Given the description of an element on the screen output the (x, y) to click on. 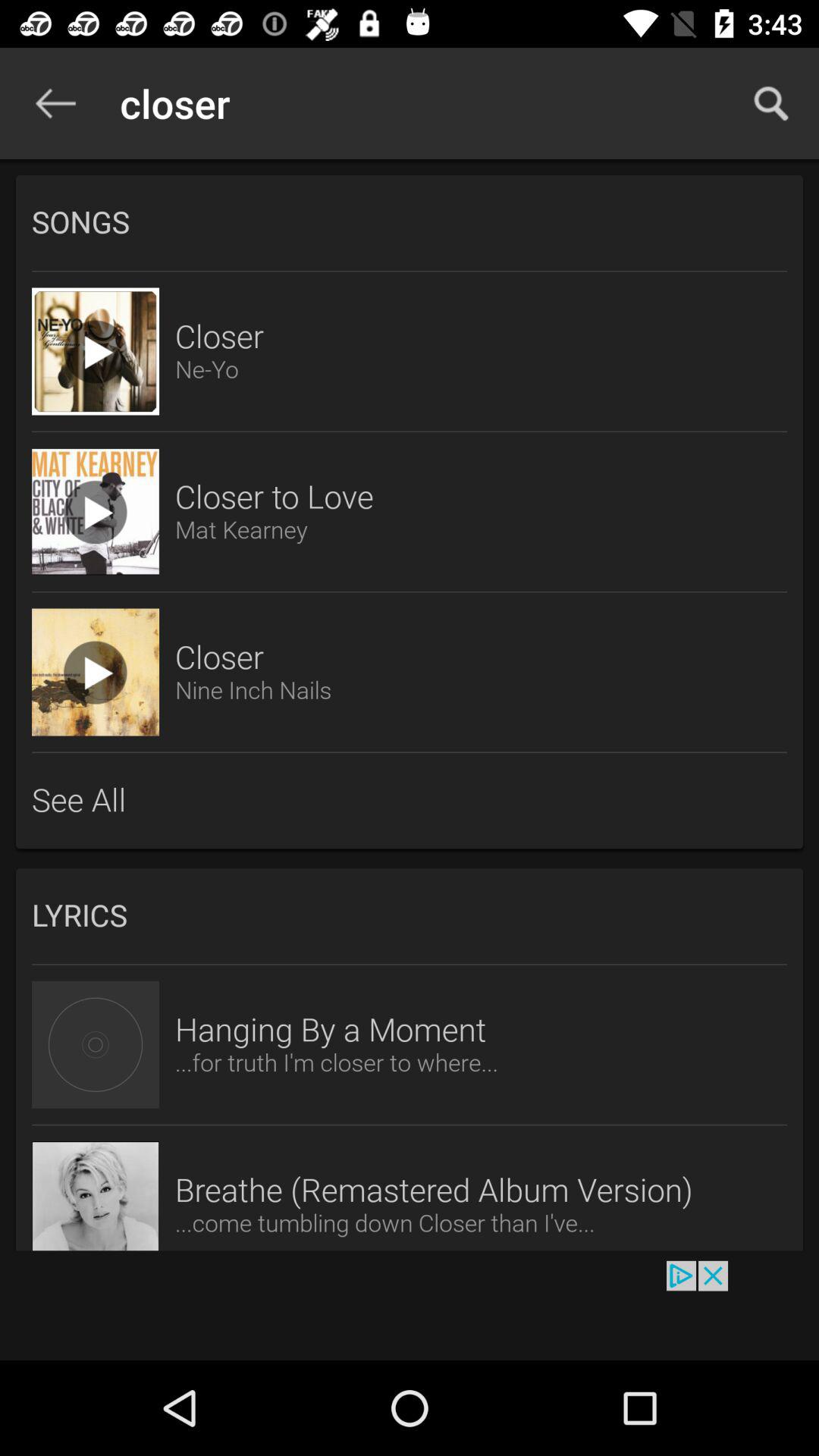
select song (95, 351)
